Given the description of an element on the screen output the (x, y) to click on. 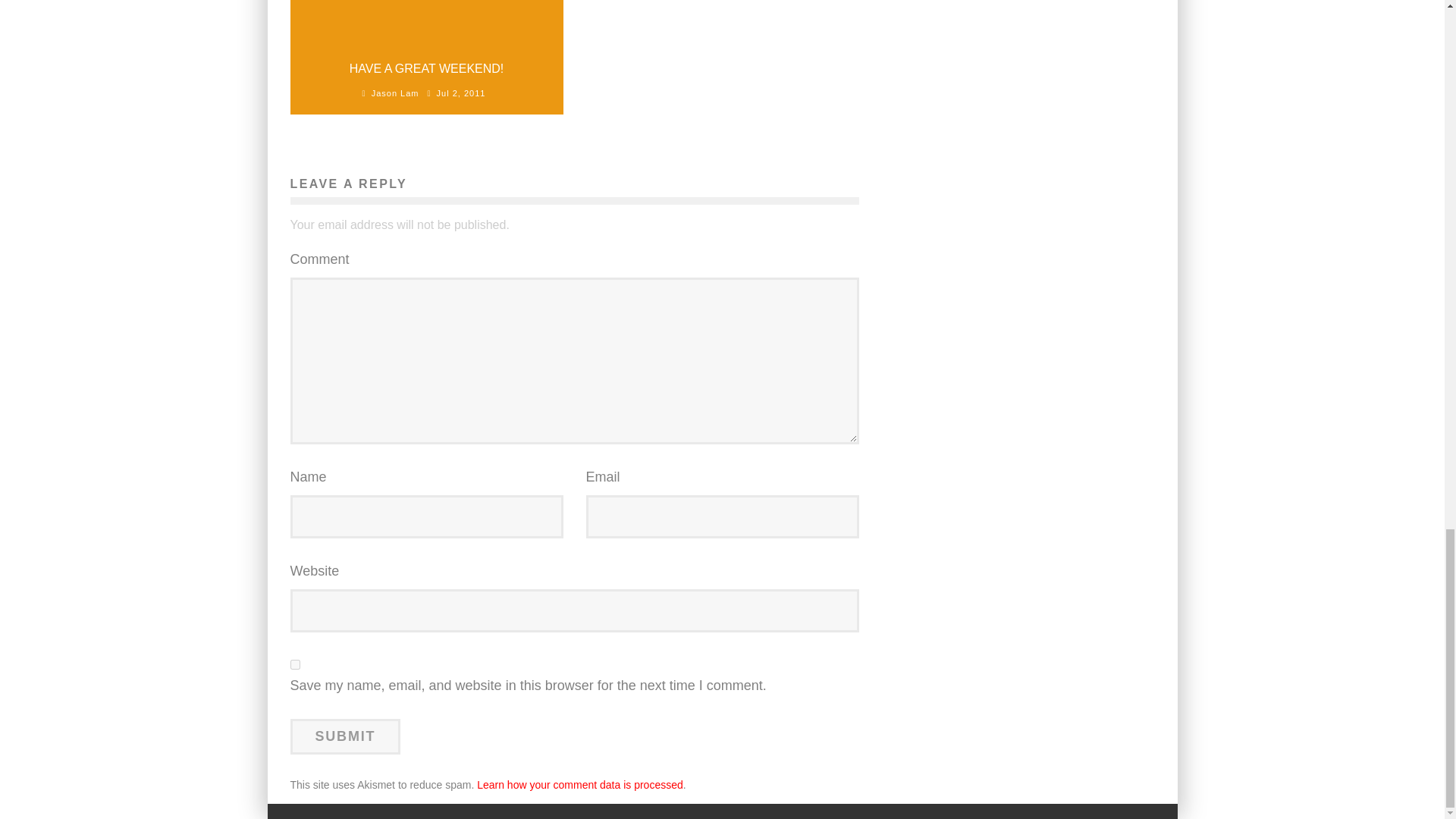
yes (294, 664)
Jason Lam (395, 92)
Submit (344, 736)
Learn how your comment data is processed (579, 784)
Submit (344, 736)
HAVE A GREAT WEEKEND! (426, 68)
